Given the description of an element on the screen output the (x, y) to click on. 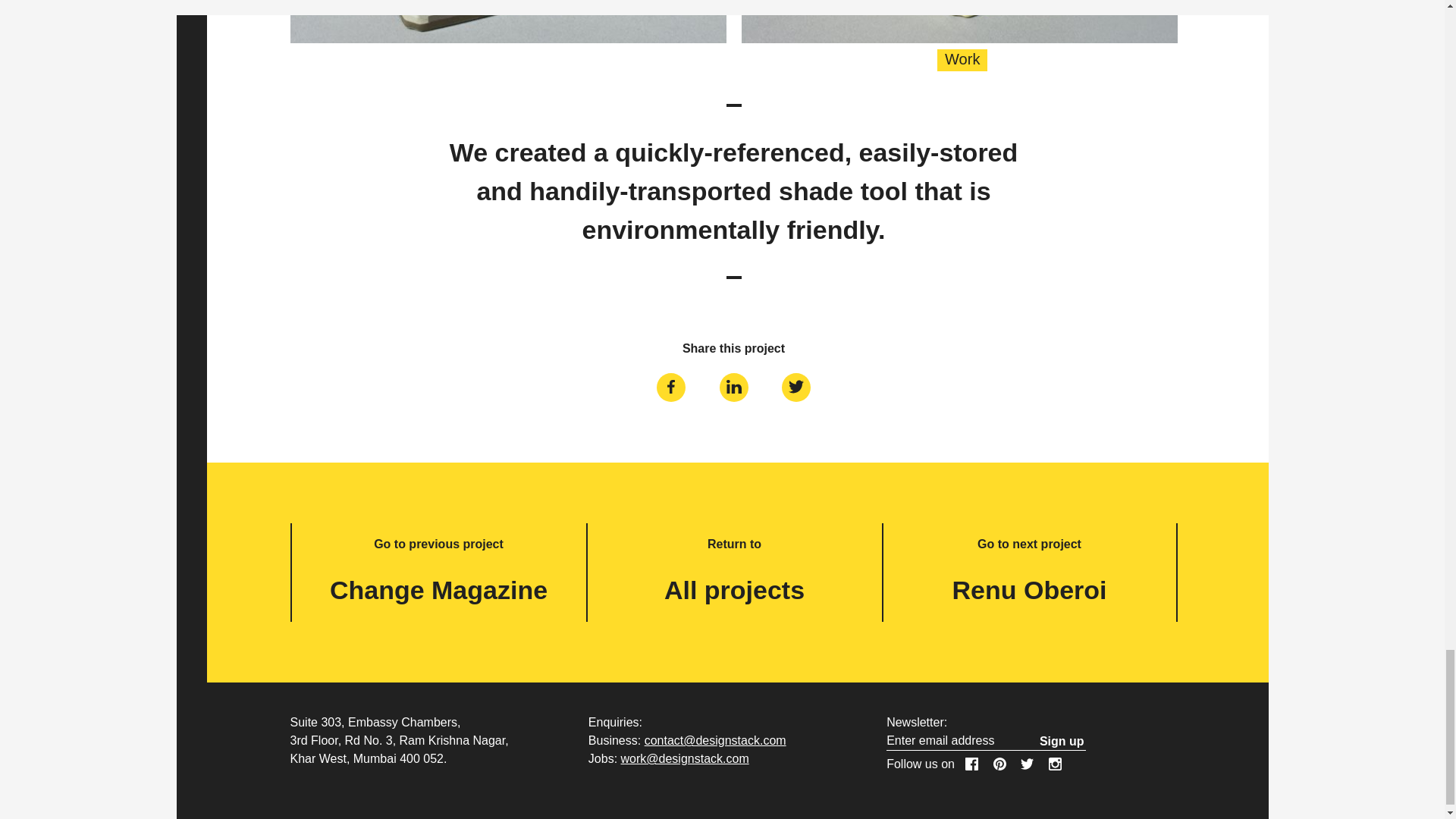
Linkedin (733, 386)
Twitter (796, 386)
All projects (734, 589)
Change Magazine (438, 589)
